Given the description of an element on the screen output the (x, y) to click on. 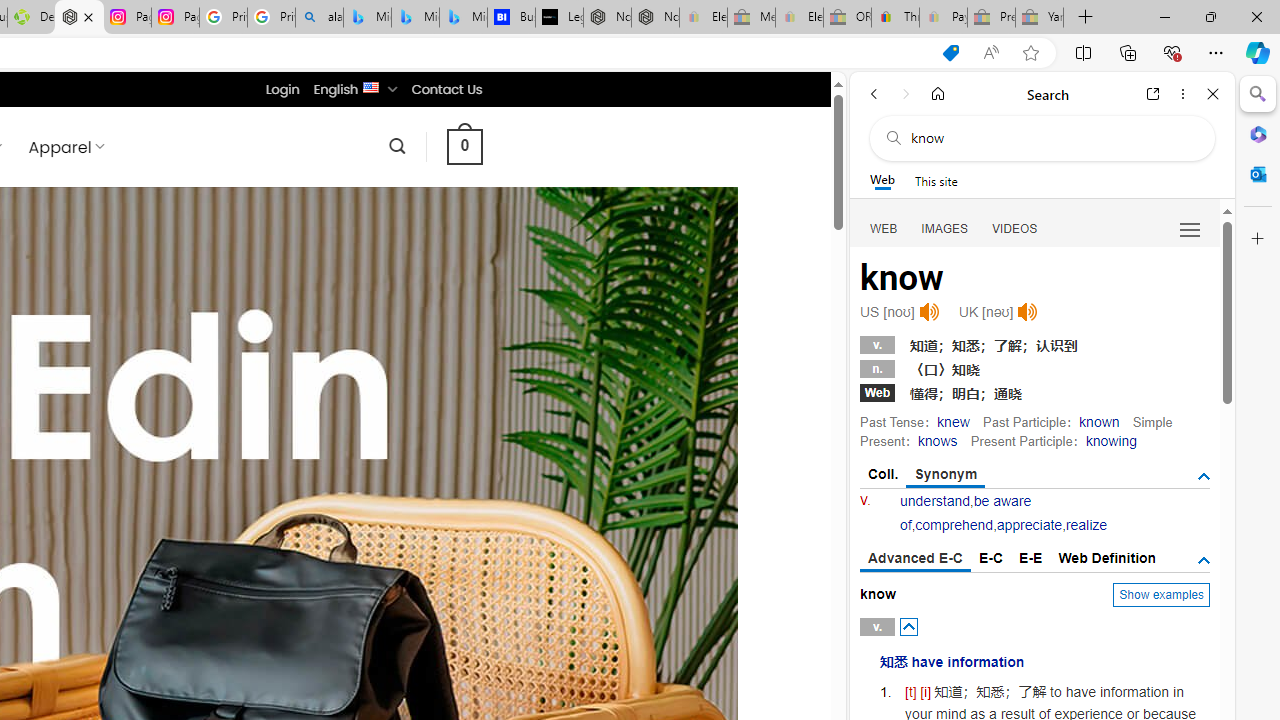
appreciate (1028, 524)
Nordace - Nordace Edin Collection (79, 17)
knowing (1110, 440)
comprehend (954, 524)
Threats and offensive language policy | eBay (895, 17)
Login (281, 89)
English (371, 86)
realize (1086, 524)
knows (936, 440)
